Given the description of an element on the screen output the (x, y) to click on. 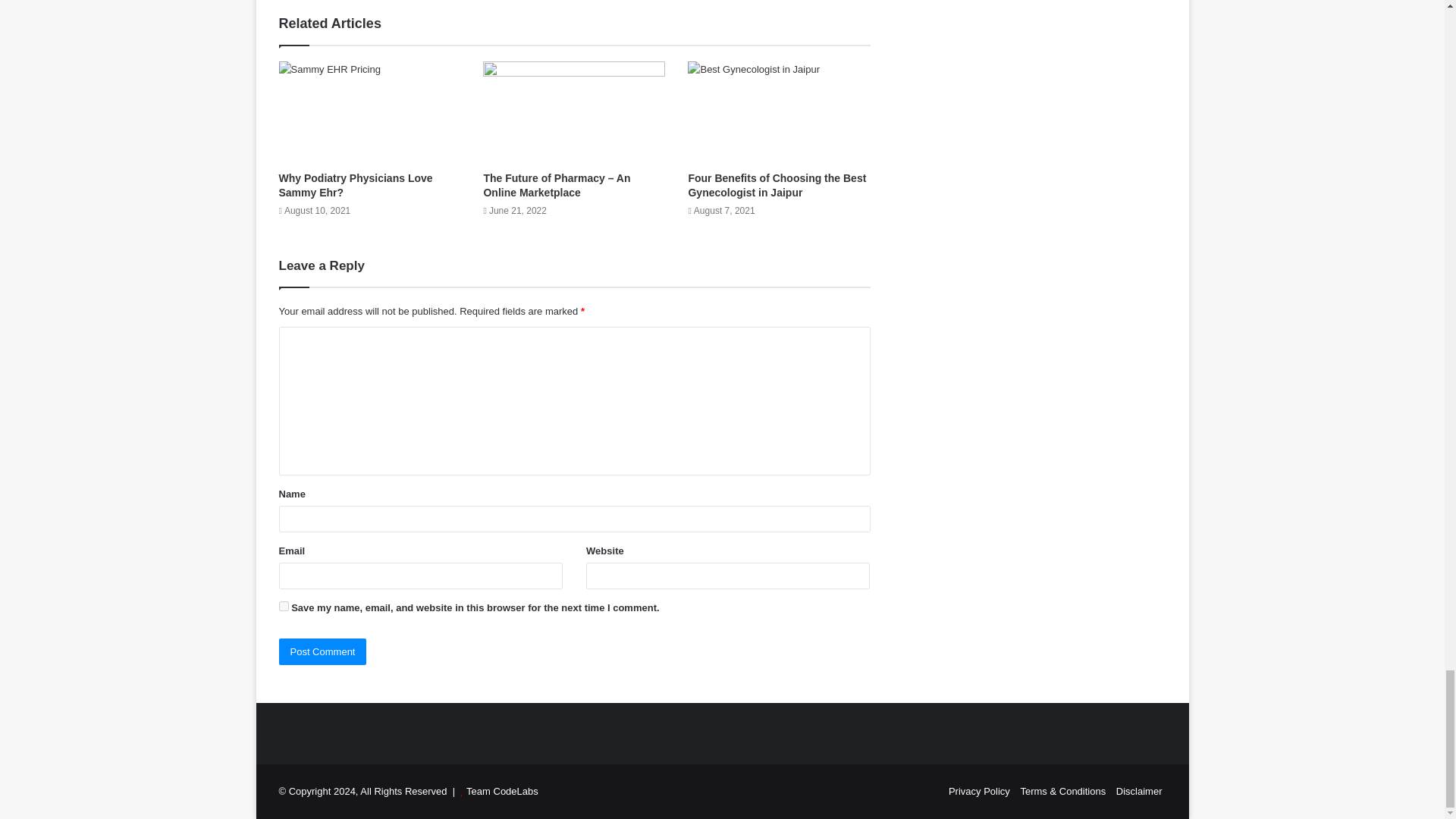
Post Comment (322, 651)
Why Podiatry Physicians Love Sammy Ehr? (355, 185)
yes (283, 605)
